Given the description of an element on the screen output the (x, y) to click on. 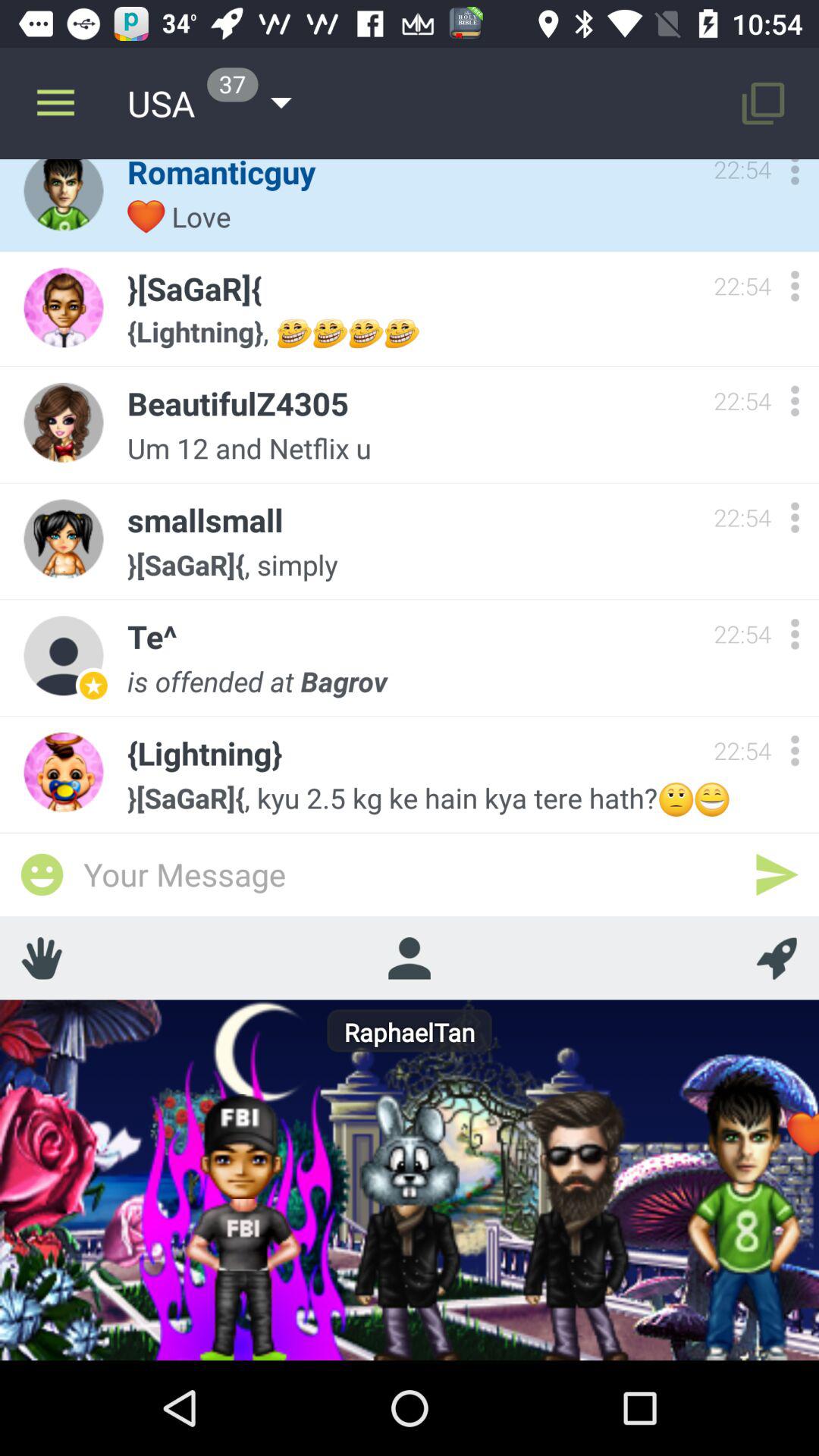
see more details for te^ (795, 634)
